Given the description of an element on the screen output the (x, y) to click on. 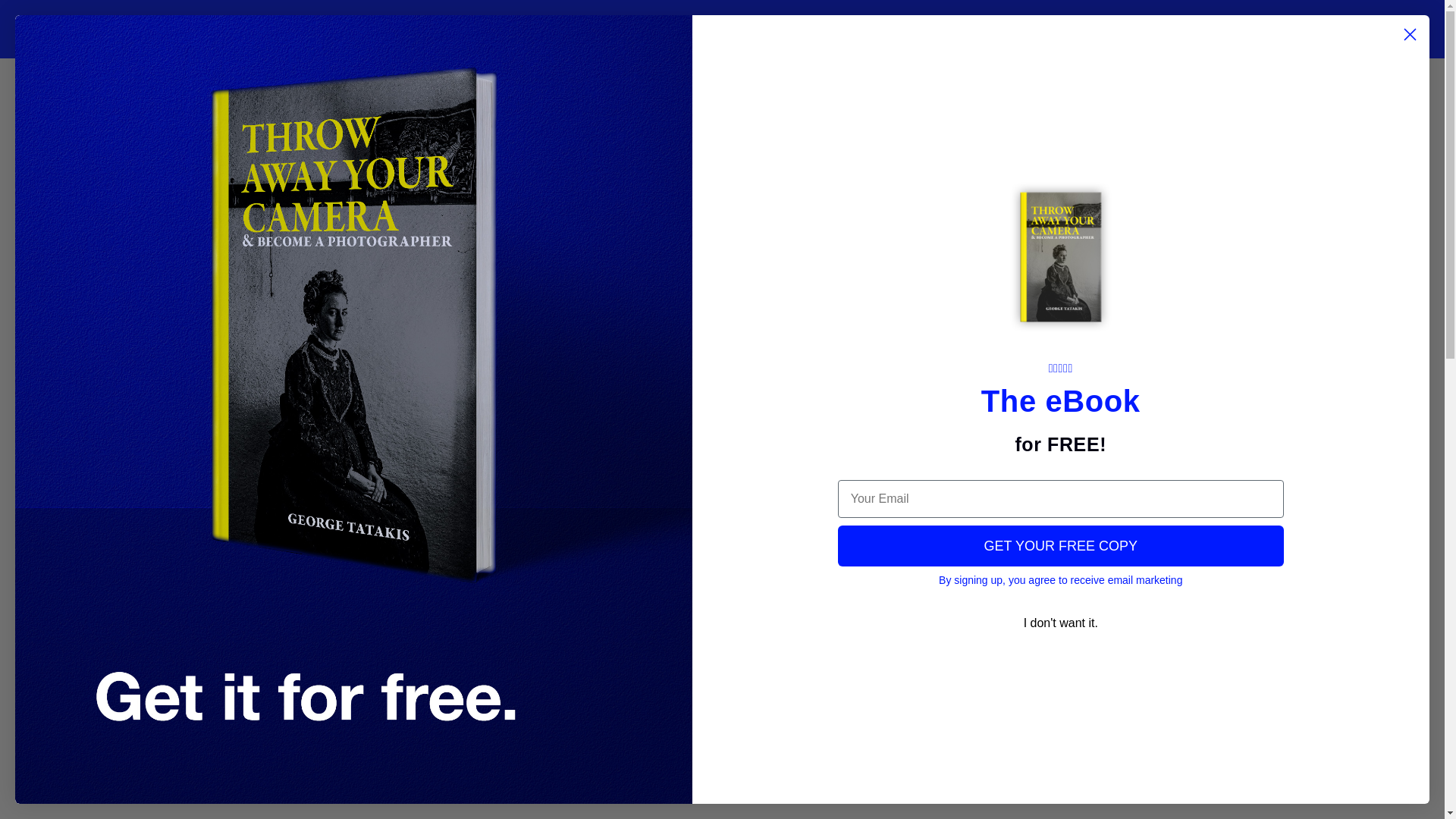
CONTACT (616, 29)
Perhaps you are looking for one of these: (721, 308)
Skip to content (45, 16)
Close dialog 1 (1409, 34)
The page you are looking for is probably somewhere else... (721, 169)
ABOUT (552, 29)
Log in (1091, 28)
That's not here (722, 212)
Cart (721, 123)
